Given the description of an element on the screen output the (x, y) to click on. 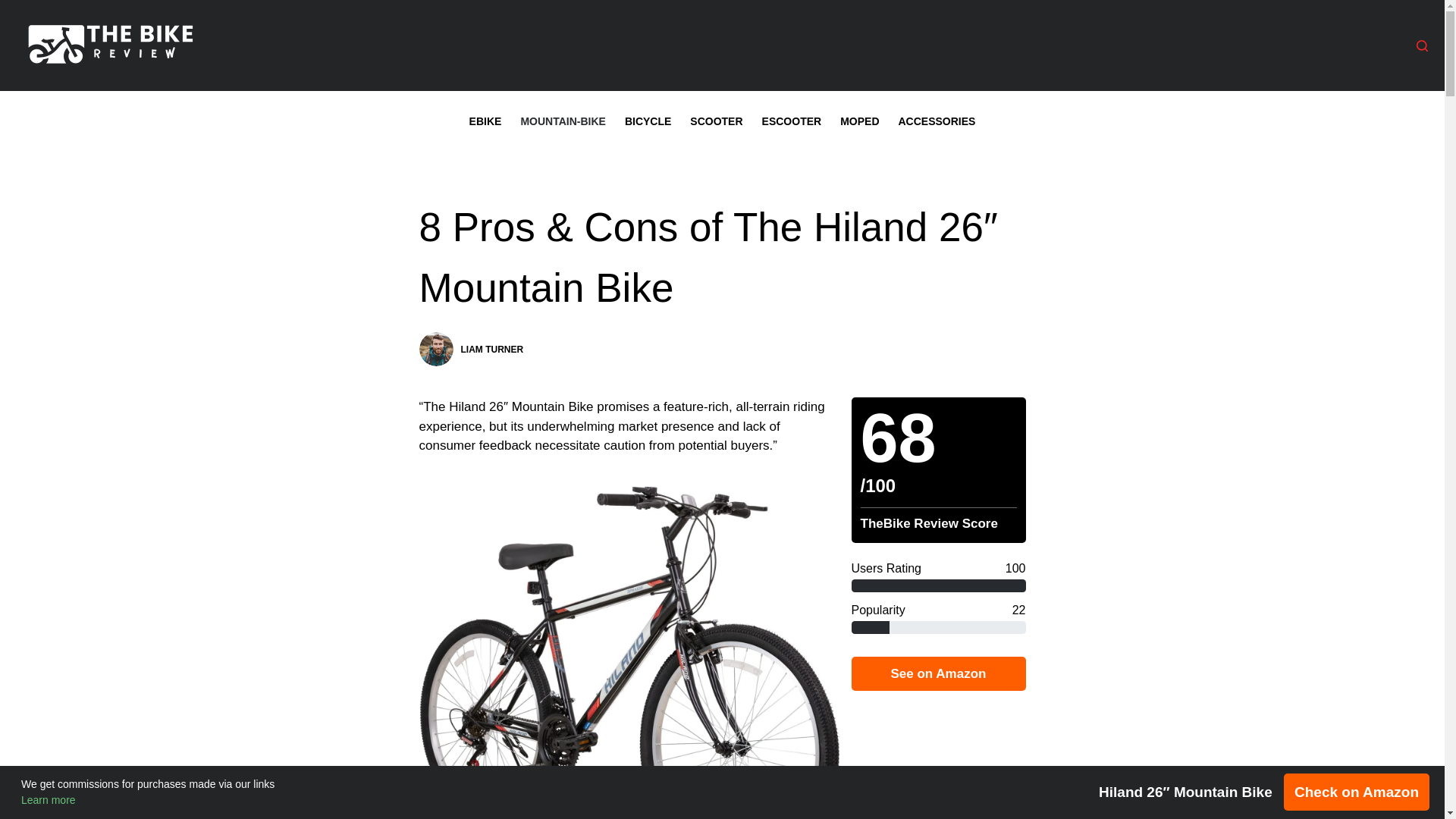
ACCESSORIES (936, 120)
Posts by Liam Turner (492, 348)
MOUNTAIN-BIKE (563, 120)
MOPED (859, 120)
BICYCLE (646, 120)
See on Amazon (937, 673)
SCOOTER (716, 120)
Learn more (48, 799)
Skip to content (15, 7)
LIAM TURNER (492, 348)
